Given the description of an element on the screen output the (x, y) to click on. 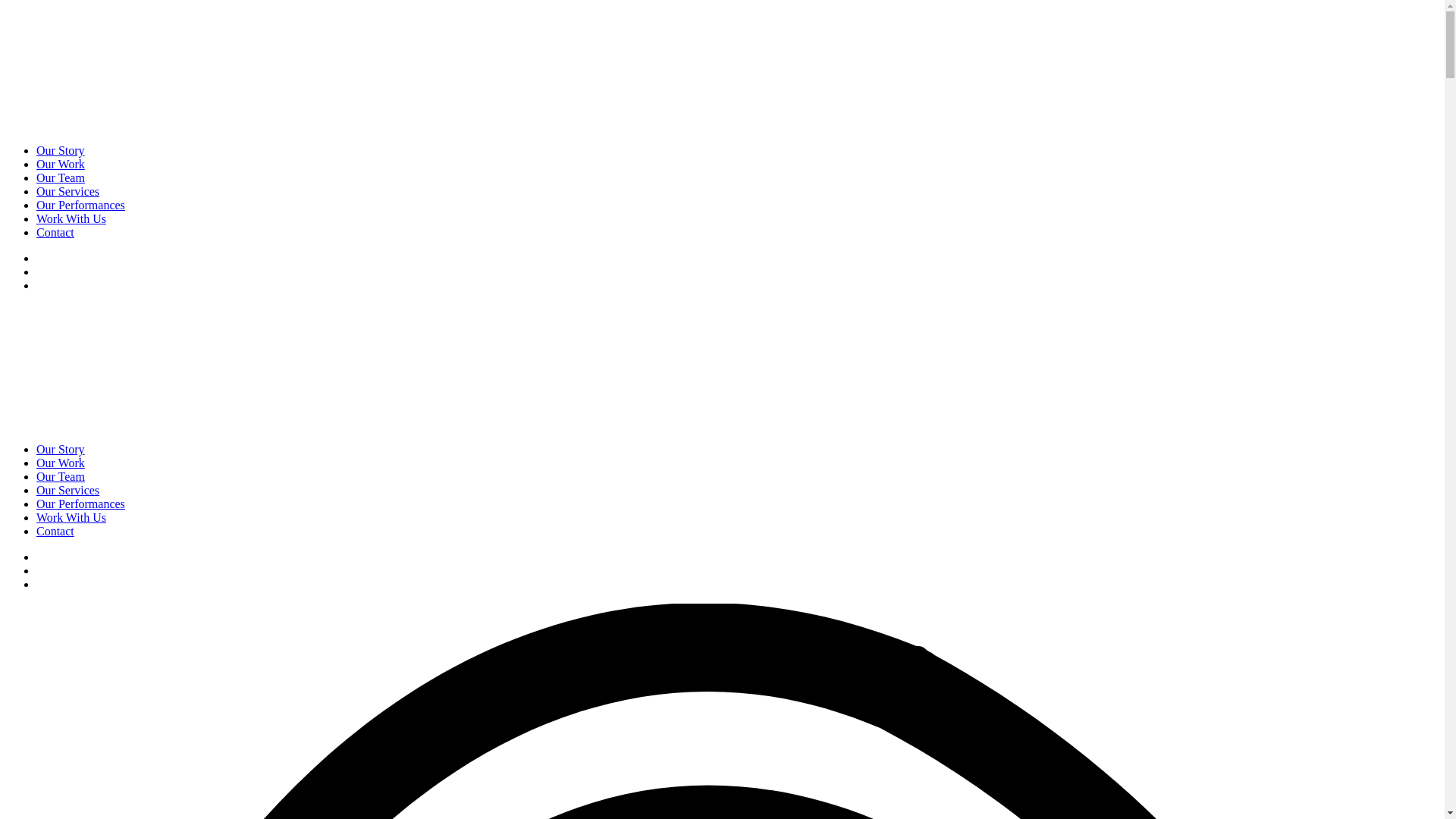
Our Services Element type: text (67, 191)
Our Performances Element type: text (80, 503)
Our Story Element type: text (60, 150)
Our Services Element type: text (67, 489)
Contact Element type: text (55, 231)
Work With Us Element type: text (71, 218)
Work With Us Element type: text (71, 517)
Our Team Element type: text (60, 476)
Our Performances Element type: text (80, 204)
Our Team Element type: text (60, 177)
Our Work Element type: text (60, 462)
Our Work Element type: text (60, 163)
Our Story Element type: text (60, 448)
Contact Element type: text (55, 530)
